Given the description of an element on the screen output the (x, y) to click on. 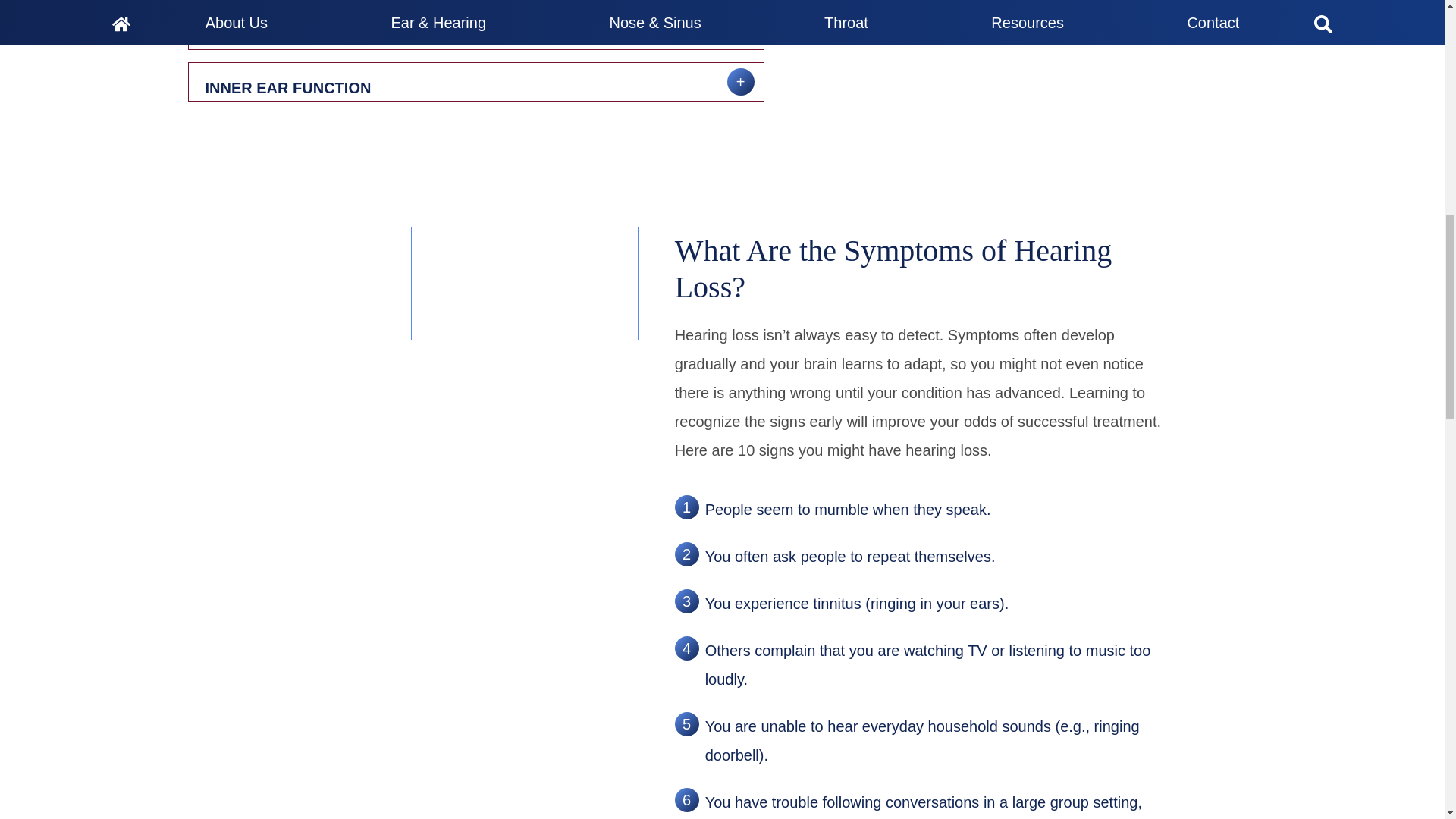
what-are-the-symptoms-of-hearing-loss (530, 289)
